Given the description of an element on the screen output the (x, y) to click on. 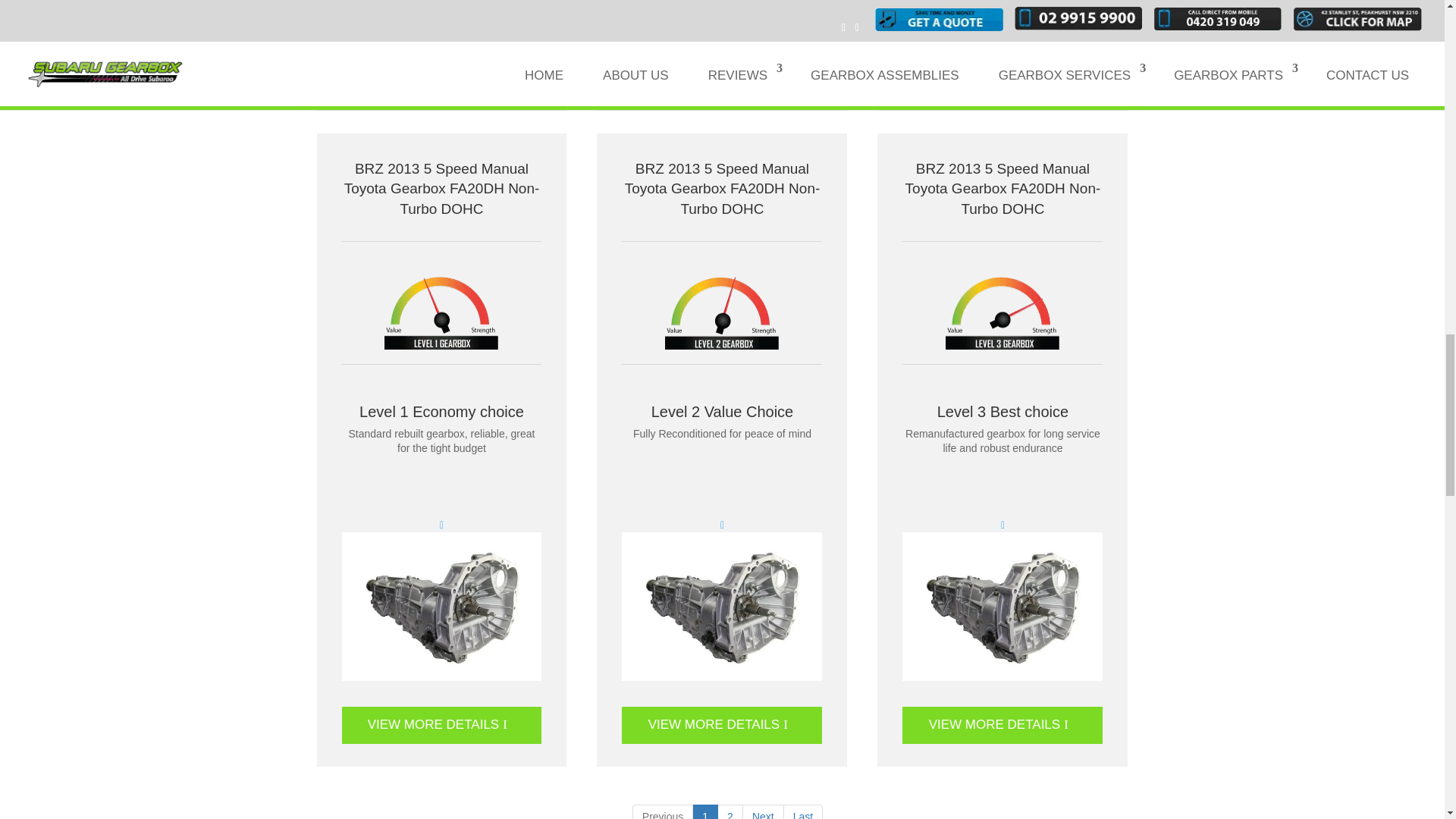
4AT-5AT-GBX-finished-864 (440, 12)
5MT-GBX-finished-316 (440, 606)
4AT-5AT-GBX-finished-868 (1002, 12)
level2-gearbox (721, 311)
5MT-GBX-finished-319 (721, 606)
level3-gearbox (1001, 311)
level1-gearbox (440, 311)
4AT-5AT-GBX-finished-866 (721, 12)
